Given the description of an element on the screen output the (x, y) to click on. 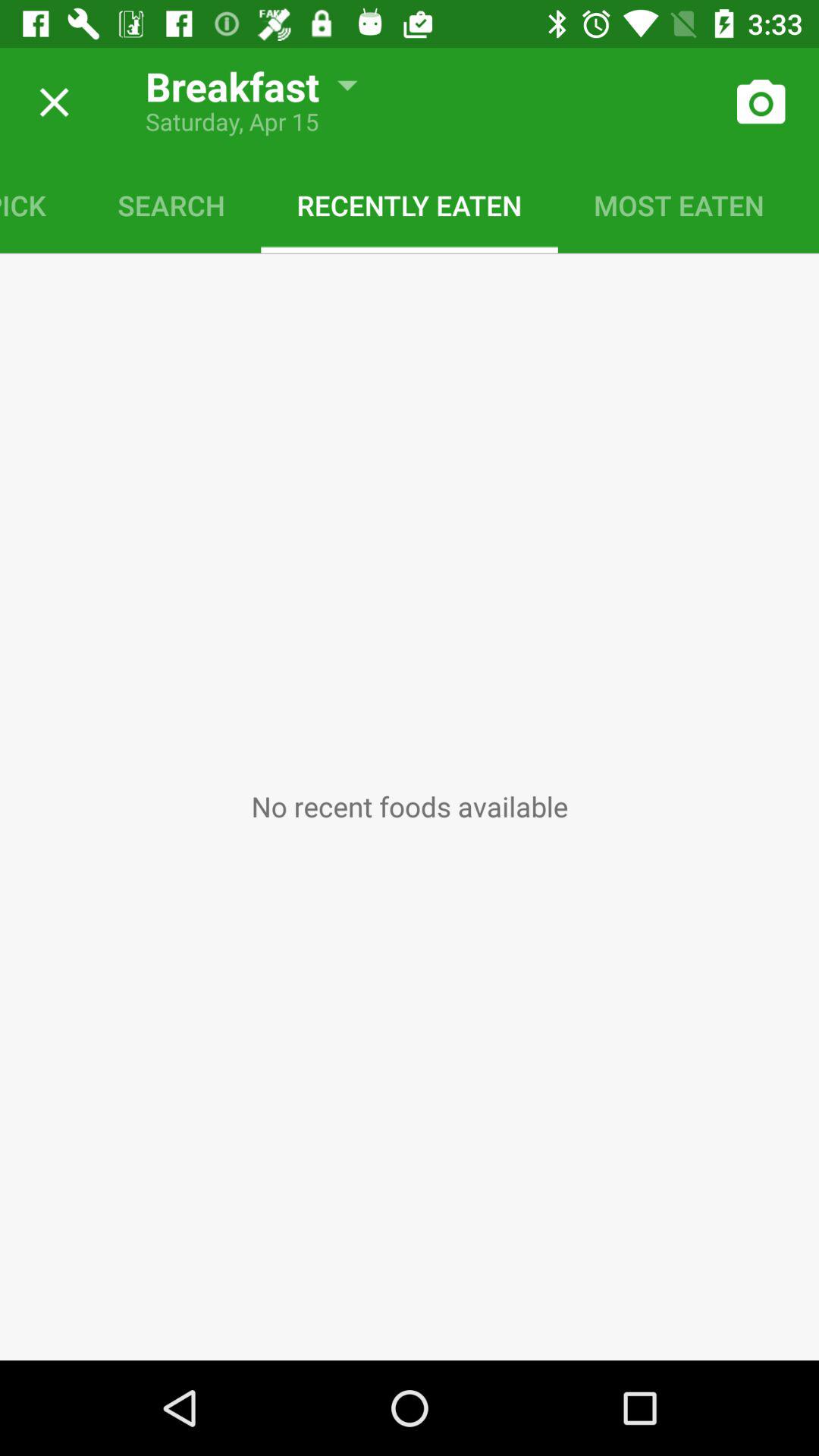
scroll until the breakfast (240, 79)
